Given the description of an element on the screen output the (x, y) to click on. 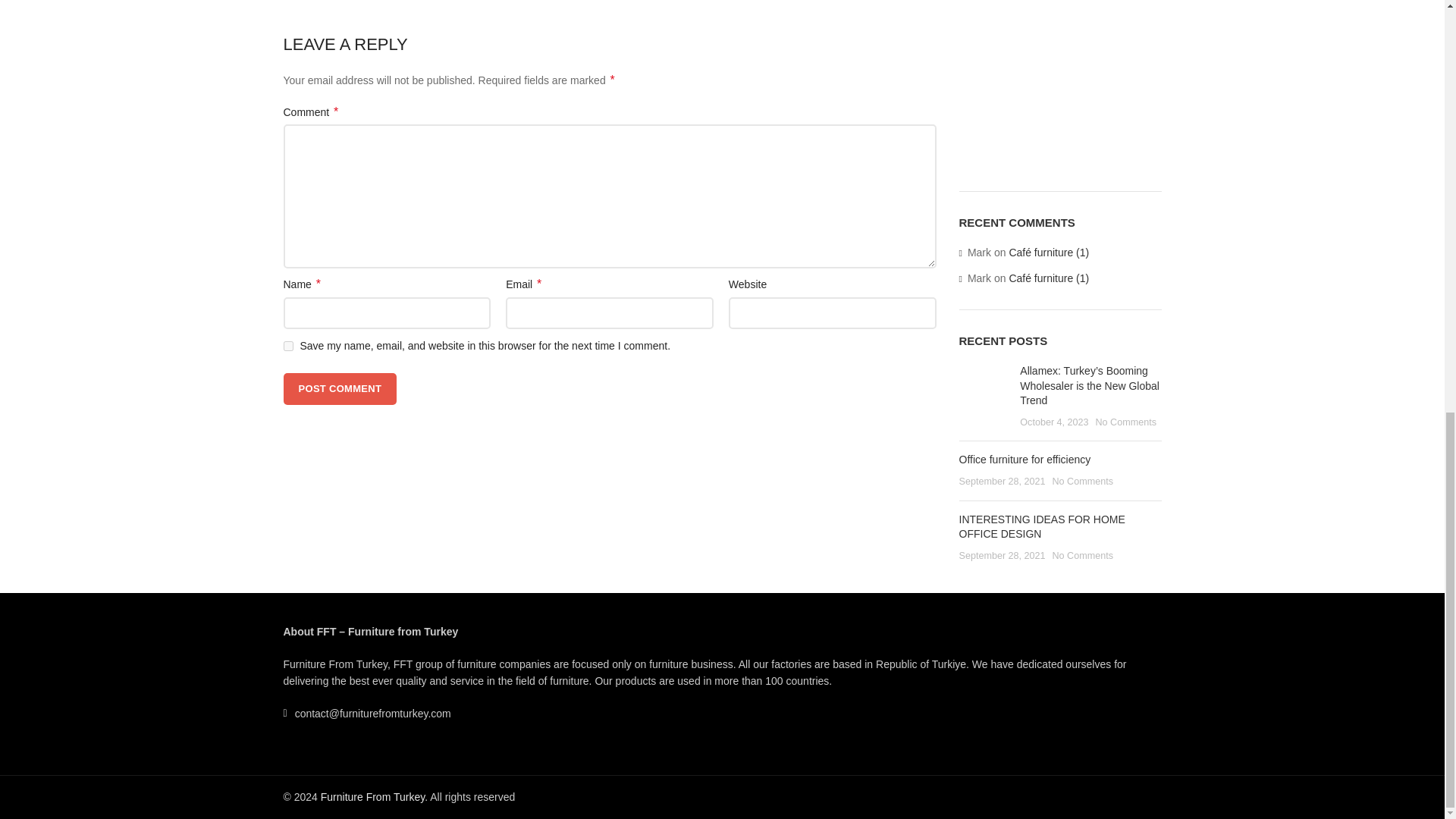
Permalink to INTERESTING IDEAS FOR HOME OFFICE DESIGN (1041, 526)
Post Comment (340, 388)
yes (288, 346)
Permalink to Office furniture for efficiency (1024, 459)
